Given the description of an element on the screen output the (x, y) to click on. 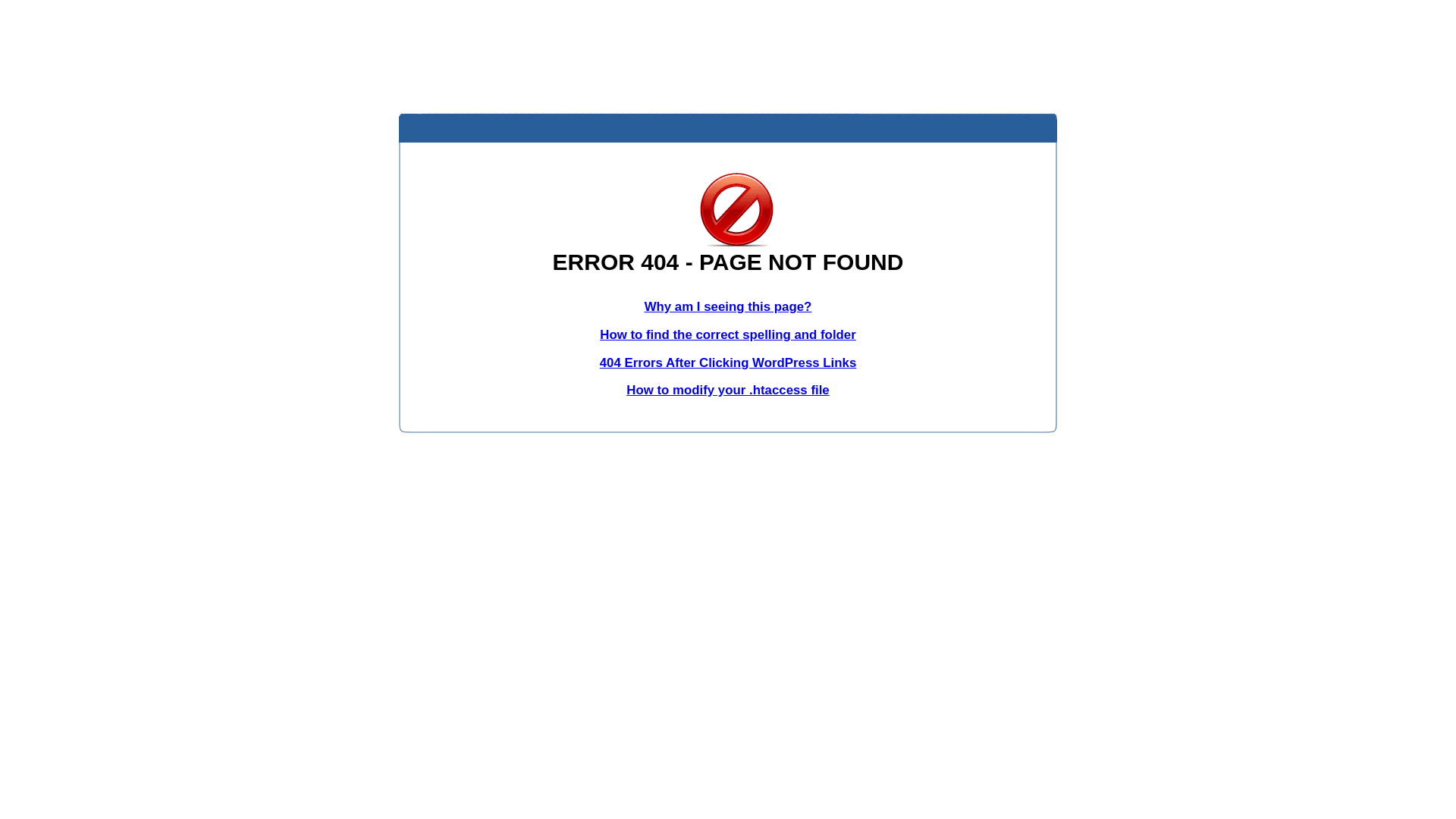
How to modify your .htaccess file Element type: text (727, 389)
404 Errors After Clicking WordPress Links Element type: text (727, 362)
How to find the correct spelling and folder Element type: text (727, 334)
Why am I seeing this page? Element type: text (728, 306)
